Given the description of an element on the screen output the (x, y) to click on. 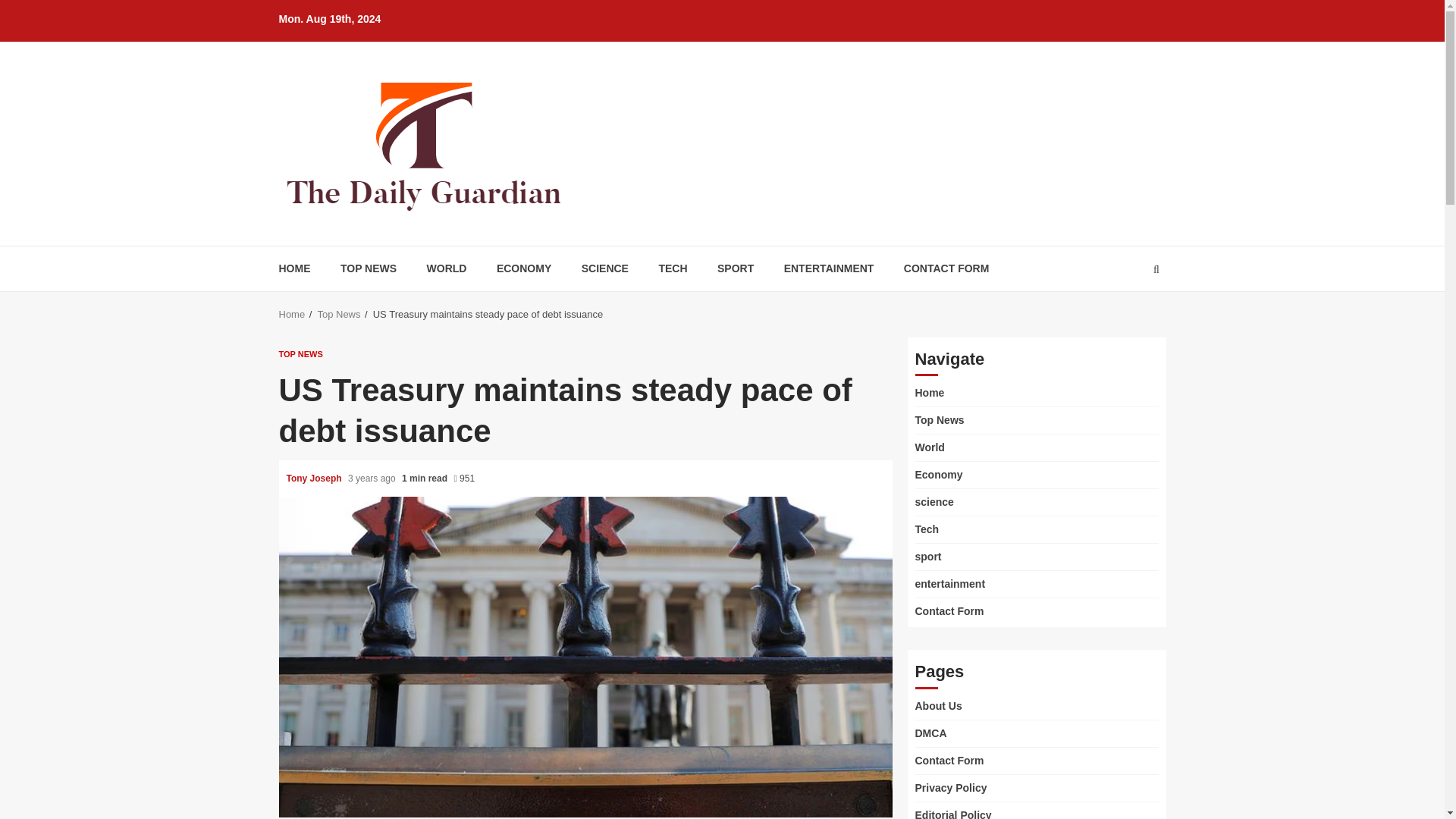
SPORT (735, 268)
ECONOMY (523, 268)
CONTACT FORM (947, 268)
HOME (295, 268)
TOP NEWS (368, 268)
TOP NEWS (301, 354)
SCIENCE (604, 268)
WORLD (446, 268)
Top News (338, 314)
951 (463, 478)
